Given the description of an element on the screen output the (x, y) to click on. 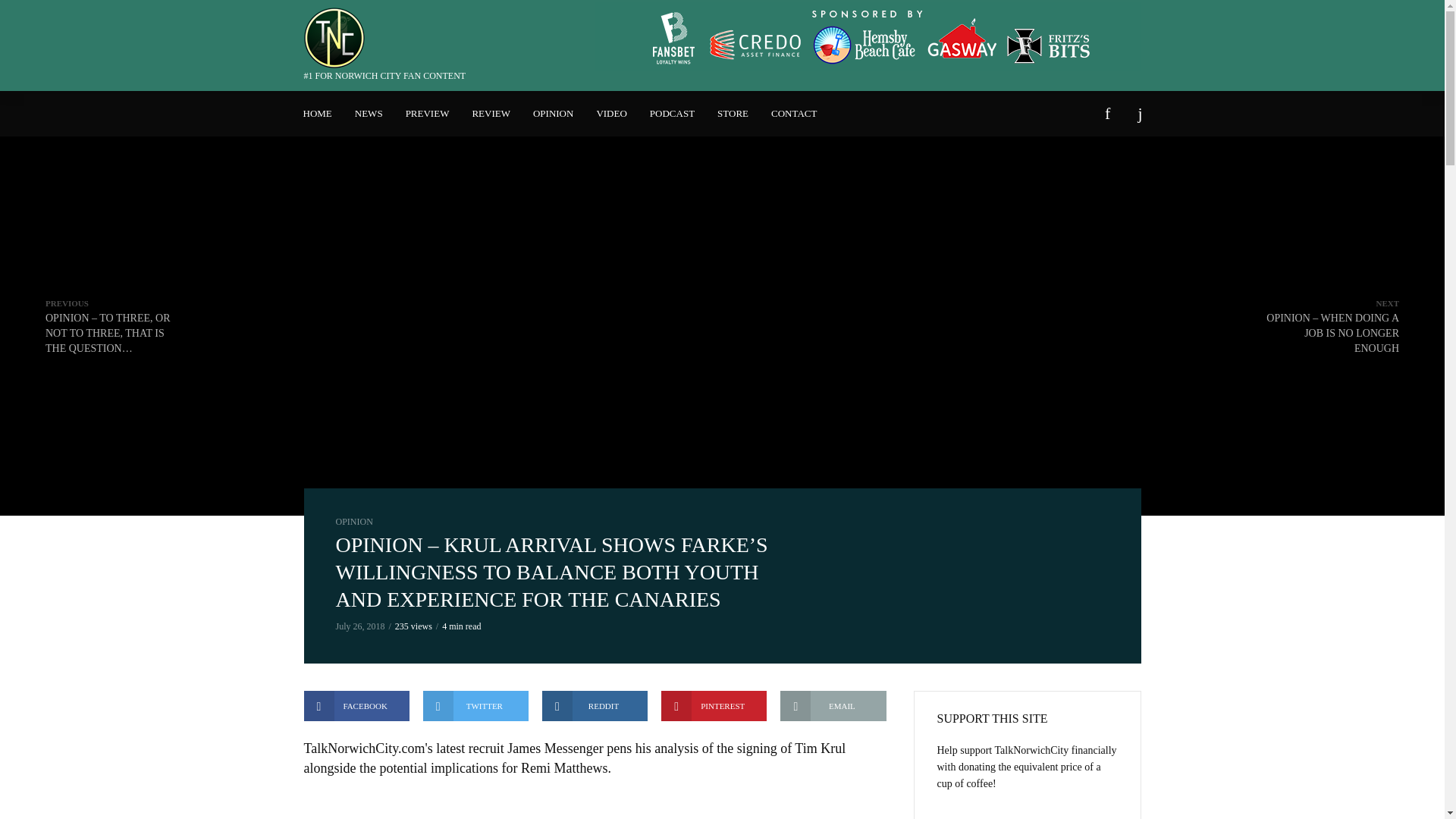
PODCAST (672, 113)
NEWS (368, 113)
REVIEW (490, 113)
CONTACT (794, 113)
OPINION (353, 521)
VIDEO (611, 113)
STORE (733, 113)
HOME (316, 113)
PREVIEW (427, 113)
FACEBOOK (355, 706)
